Given the description of an element on the screen output the (x, y) to click on. 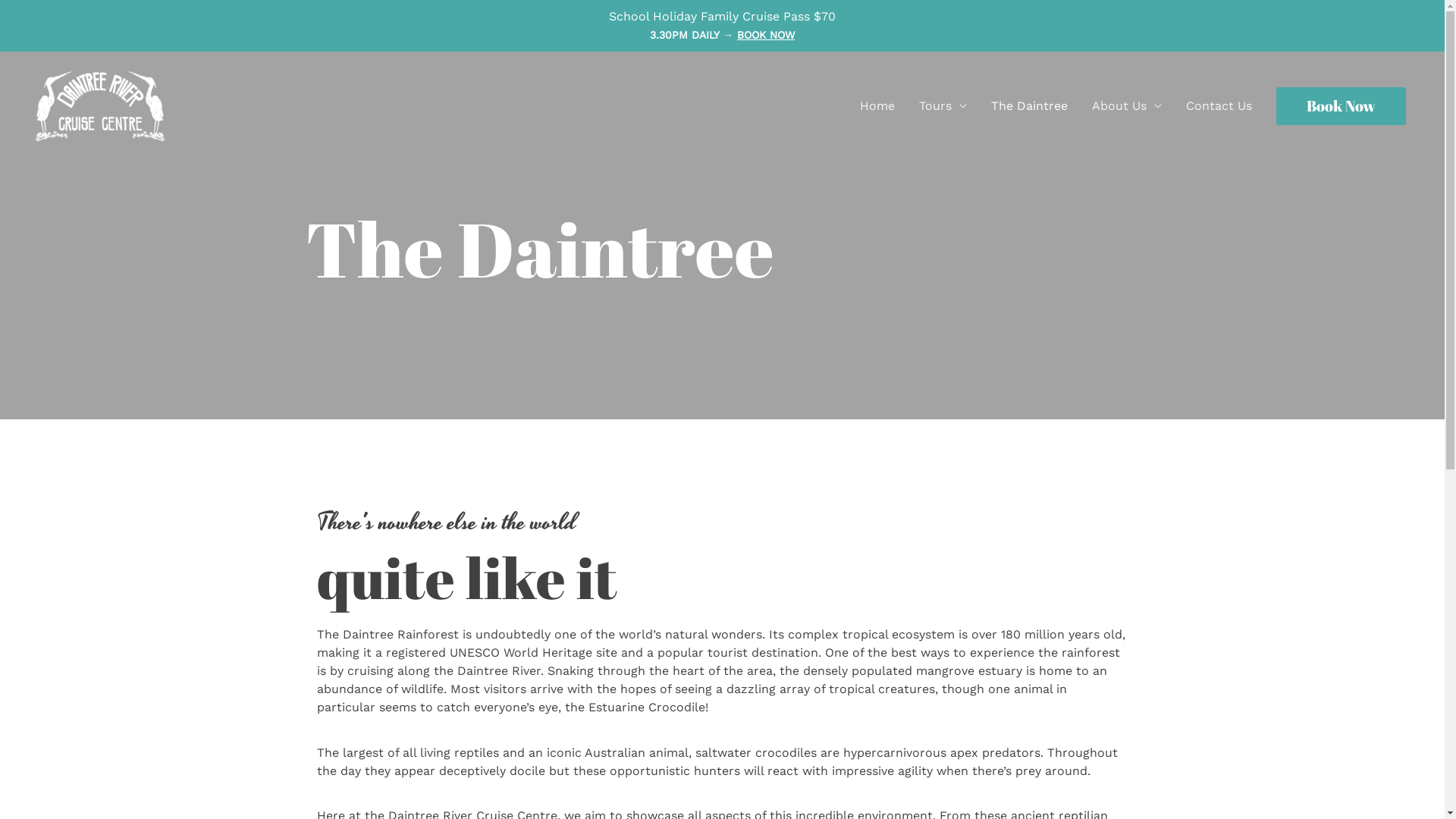
Home Element type: text (876, 105)
Tours Element type: text (942, 105)
Book Now Element type: text (1340, 106)
BOOK NOW Element type: text (765, 34)
The Daintree Element type: text (1029, 105)
Contact Us Element type: text (1218, 105)
About Us Element type: text (1126, 105)
